Given the description of an element on the screen output the (x, y) to click on. 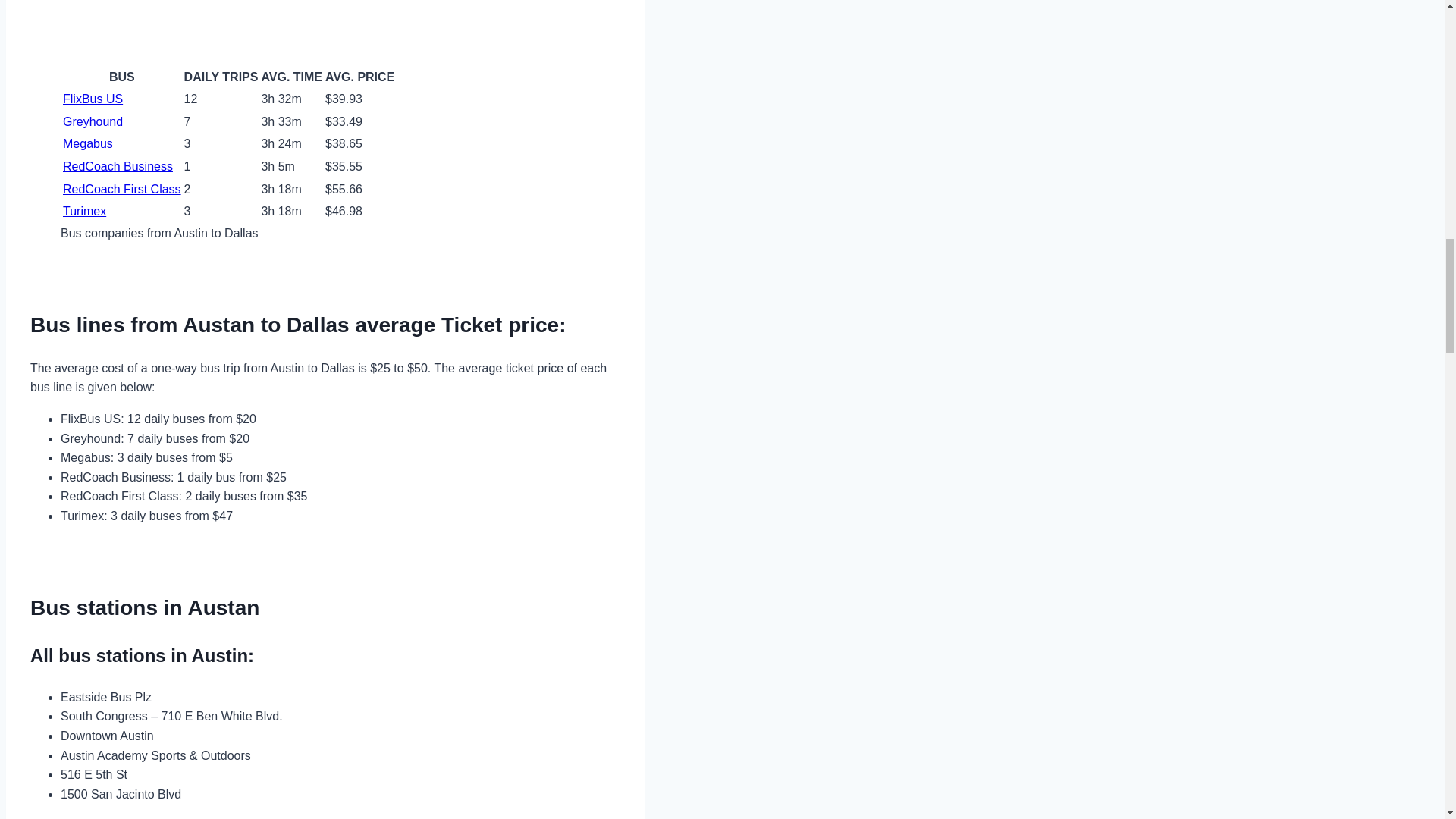
RedCoach Business (117, 165)
Turimex (84, 210)
Greyhound (92, 121)
FlixBus US (92, 98)
RedCoach First Class (121, 187)
Megabus (87, 143)
